Given the description of an element on the screen output the (x, y) to click on. 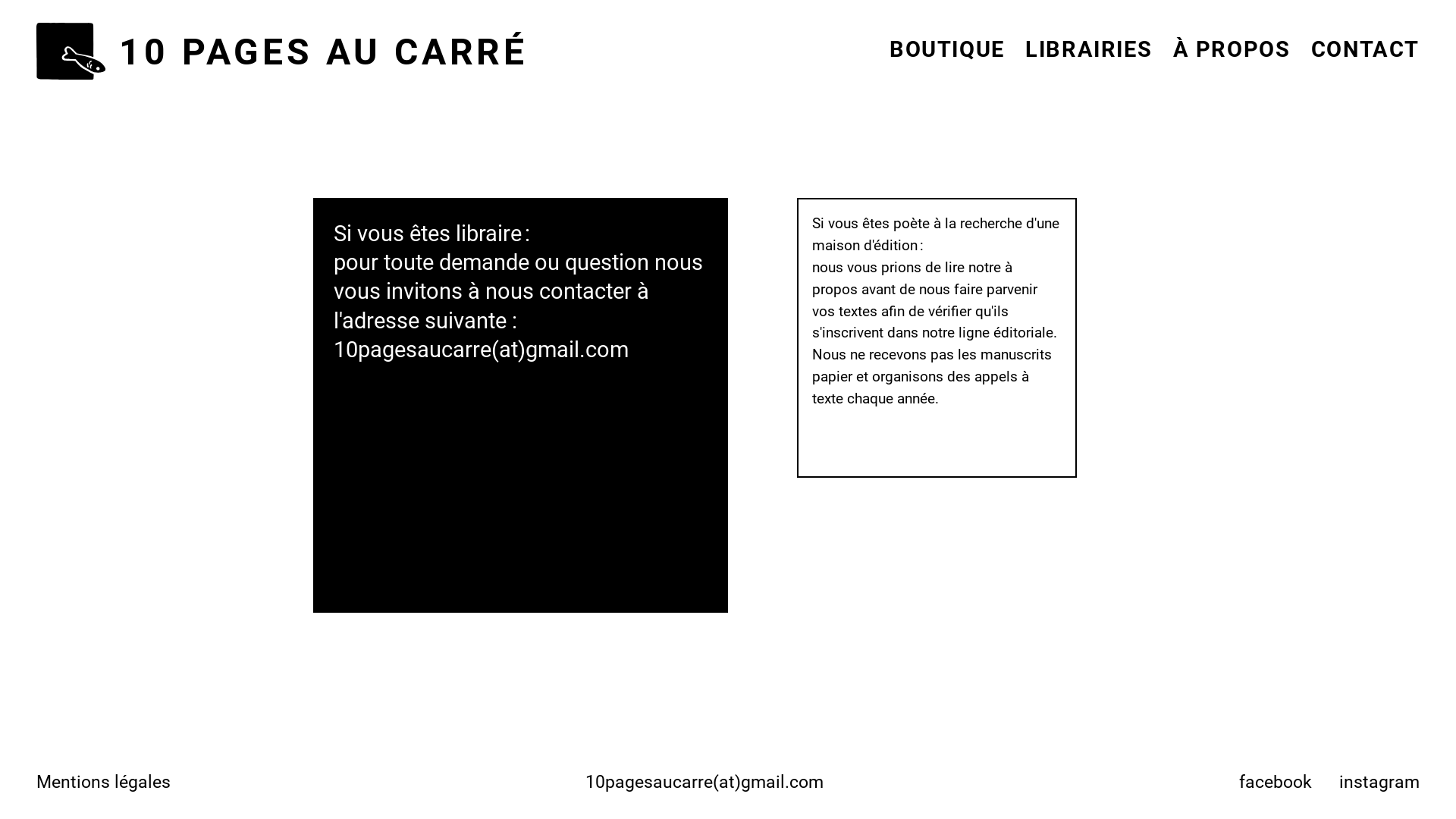
facebook Element type: text (1275, 781)
instagram Element type: text (1379, 781)
LIBRAIRIES Element type: text (1088, 49)
CONTACT Element type: text (1365, 49)
10pagesaucarre(at)gmail.com Element type: text (480, 349)
10pagesaucarre(at)gmail.com Element type: text (704, 775)
BOUTIQUE Element type: text (946, 49)
